Given the description of an element on the screen output the (x, y) to click on. 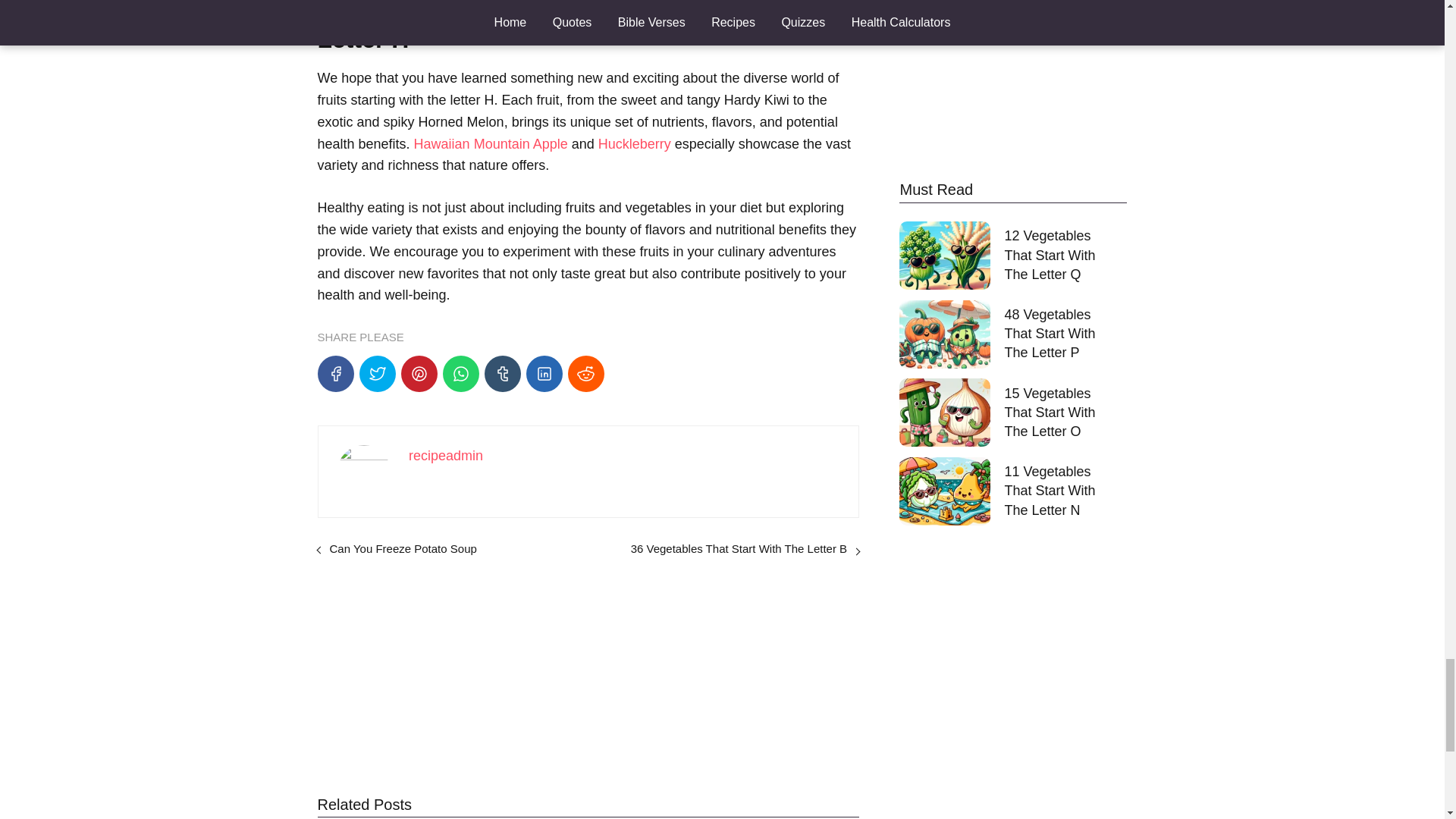
Hawaiian Mountain Apple (490, 143)
Huckleberry (634, 143)
